Given the description of an element on the screen output the (x, y) to click on. 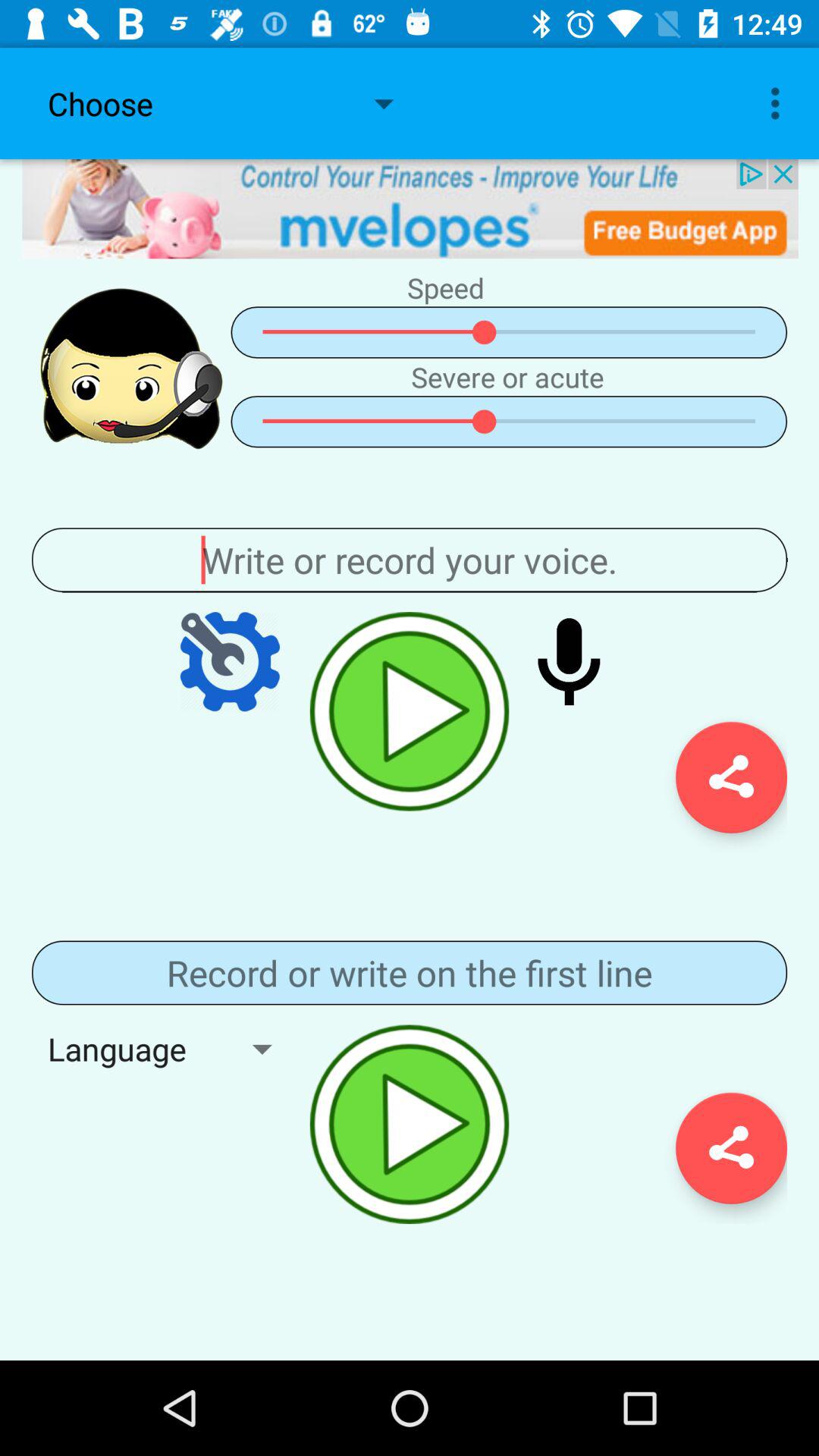
setting page (229, 661)
